Given the description of an element on the screen output the (x, y) to click on. 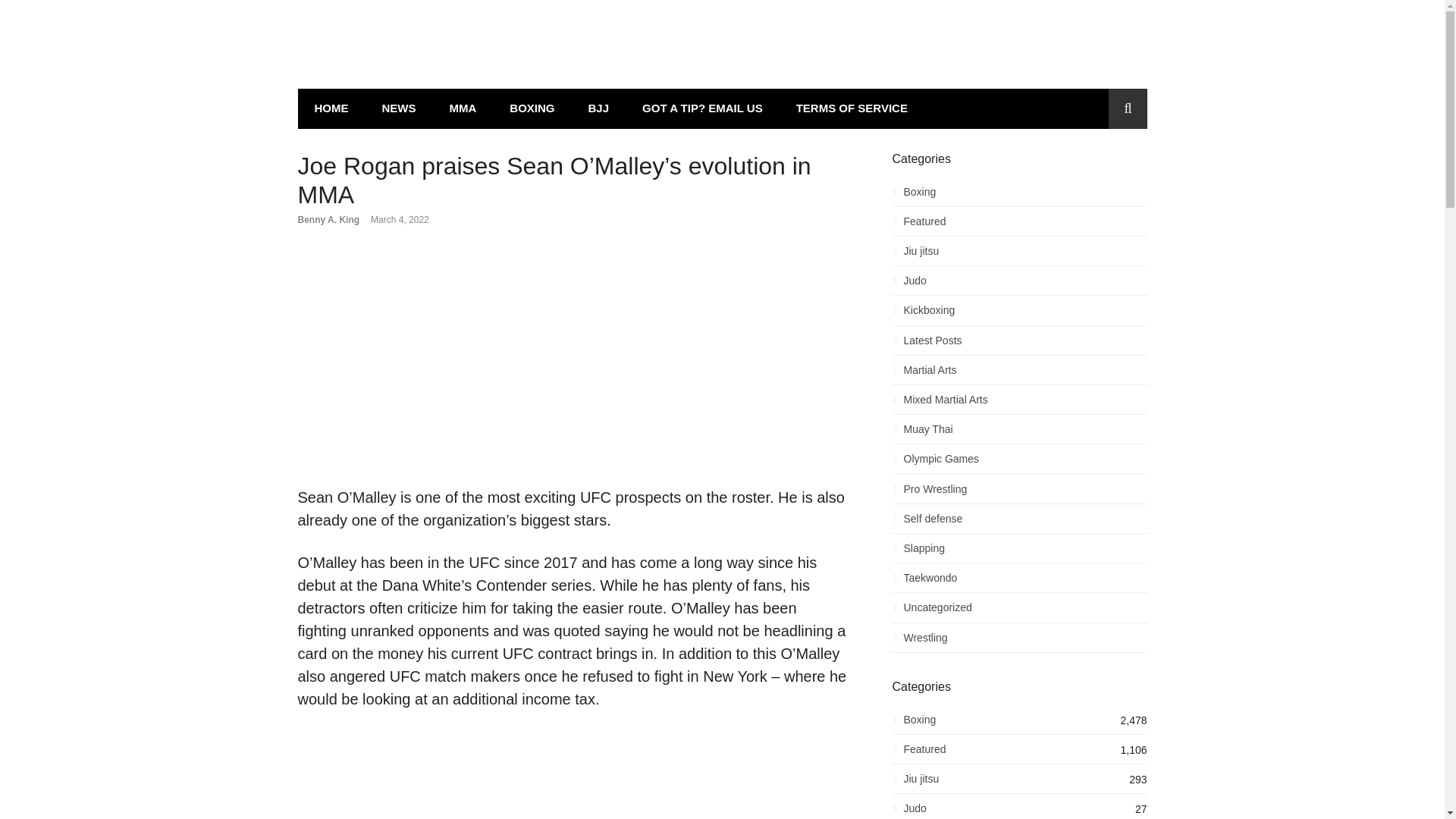
TERMS OF SERVICE (851, 108)
HOME (331, 108)
Kickboxing (1019, 314)
MMA (462, 108)
GOT A TIP? EMAIL US (702, 108)
NEWS (398, 108)
BOXING (531, 108)
Judo (1019, 284)
Featured (1019, 225)
Muay Thai (1019, 433)
Benny A. King (328, 219)
Jiu jitsu (1019, 255)
Martial Arts (1019, 373)
Mixed Martial Arts (1019, 403)
Boxing (1019, 196)
